Given the description of an element on the screen output the (x, y) to click on. 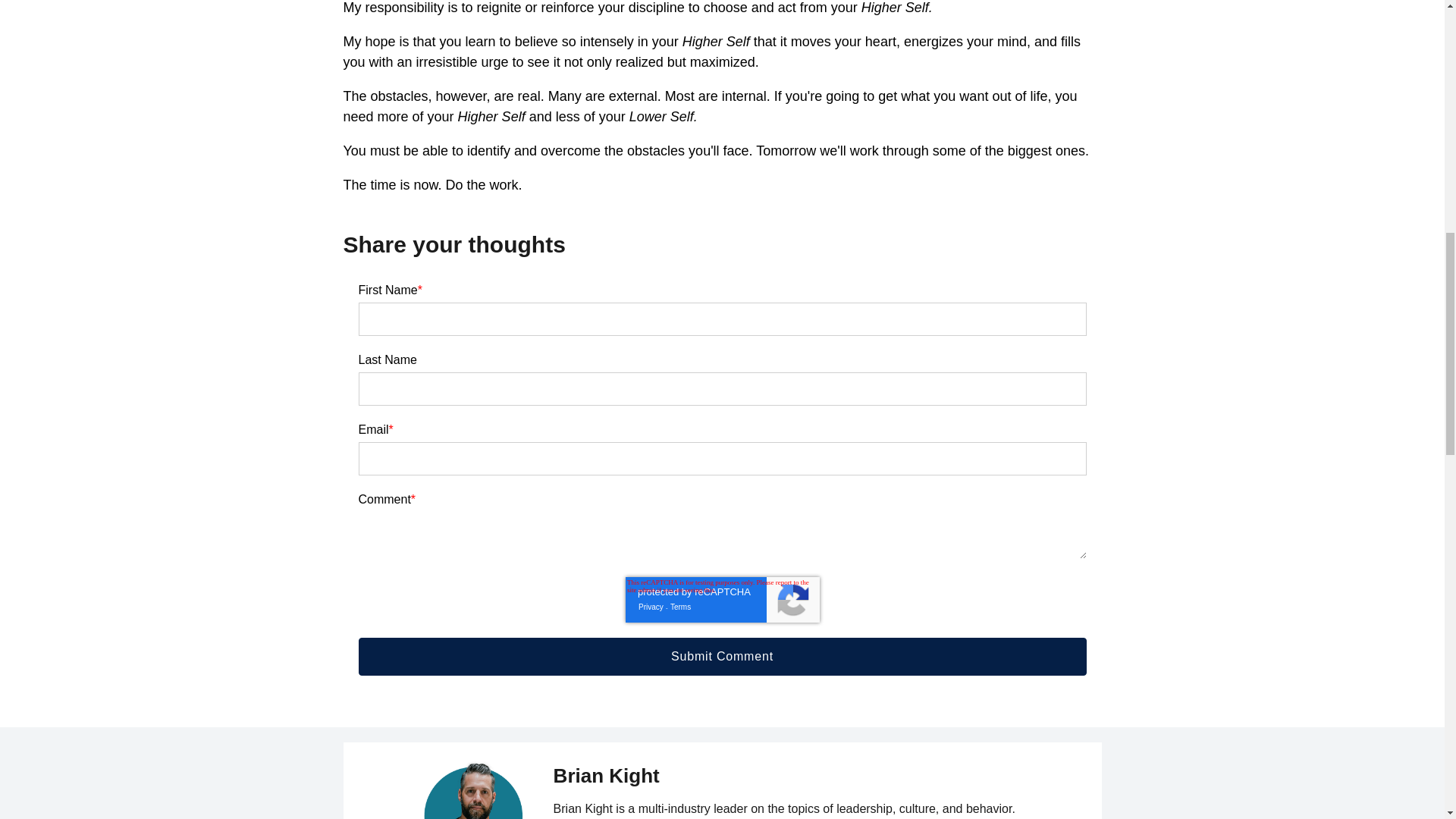
reCAPTCHA (721, 599)
Submit Comment (722, 656)
Submit Comment (722, 656)
